Given the description of an element on the screen output the (x, y) to click on. 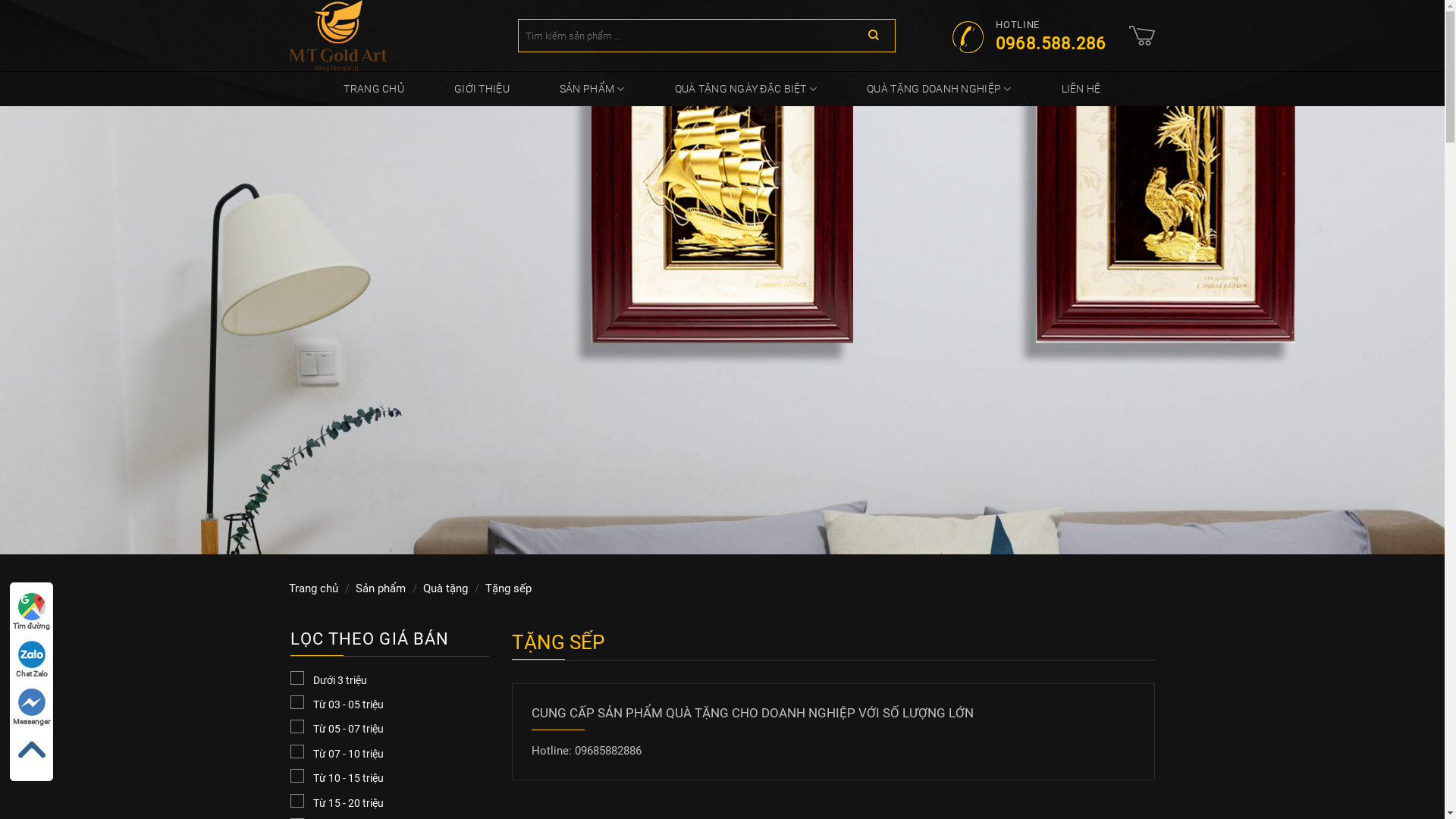
Chat Zalo Element type: text (31, 658)
Messenger Element type: text (31, 706)
HOTLINE
0968.588.286 Element type: text (1028, 35)
Skip to content Element type: text (0, 0)
